Given the description of an element on the screen output the (x, y) to click on. 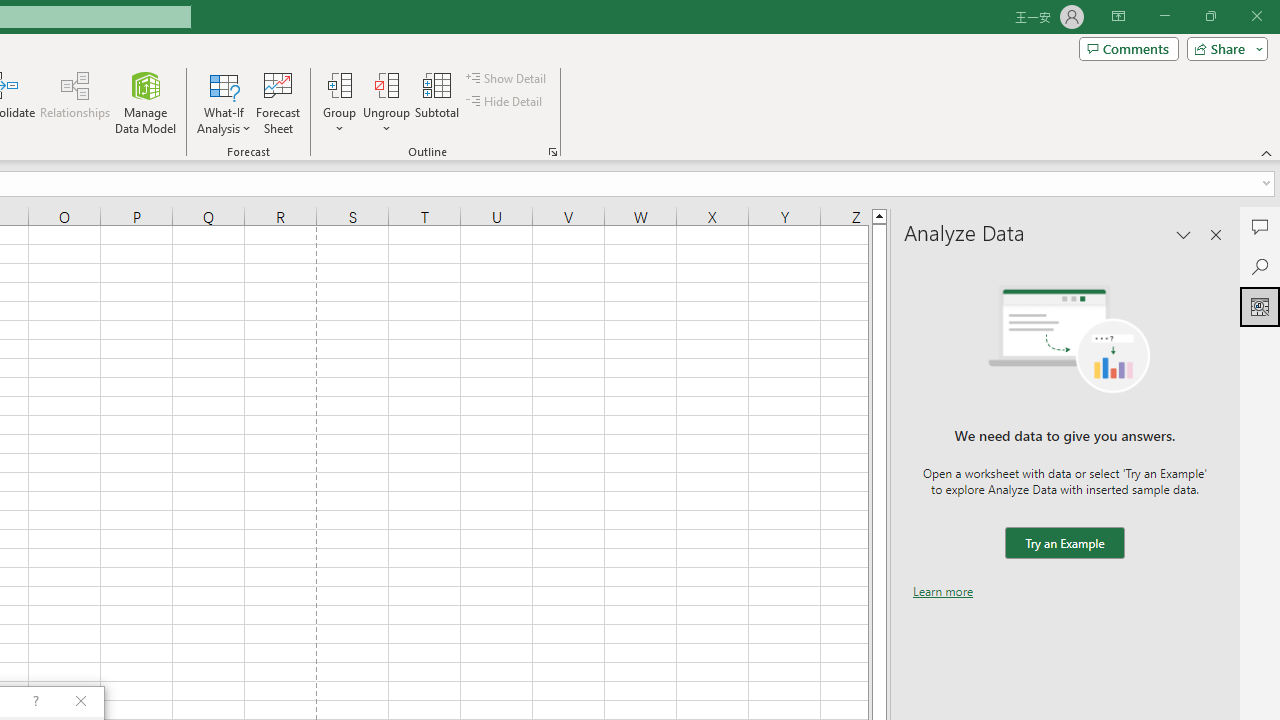
Subtotal (437, 102)
Group and Outline Settings (552, 151)
Show Detail (507, 78)
Learn more (943, 591)
We need data to give you answers. Try an Example (1064, 543)
